Given the description of an element on the screen output the (x, y) to click on. 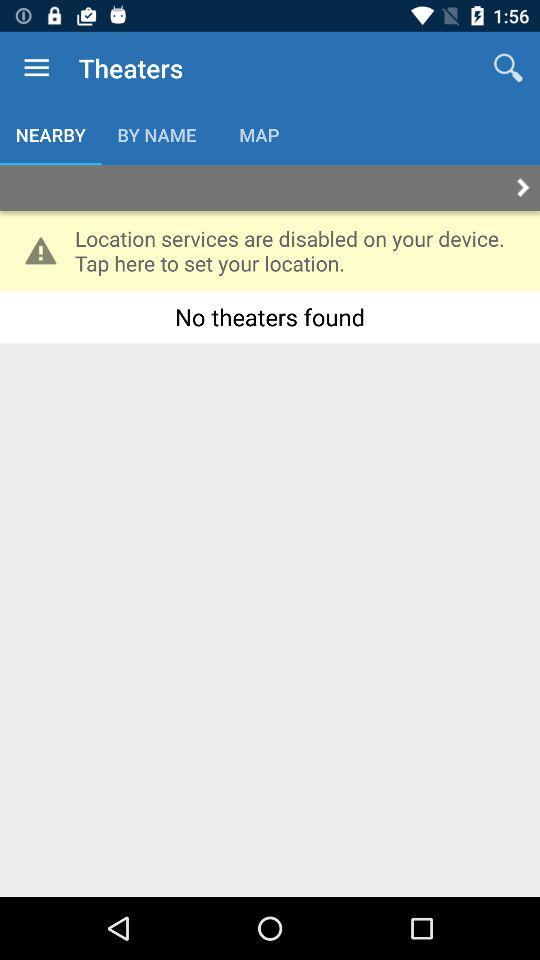
go to next (270, 188)
